Given the description of an element on the screen output the (x, y) to click on. 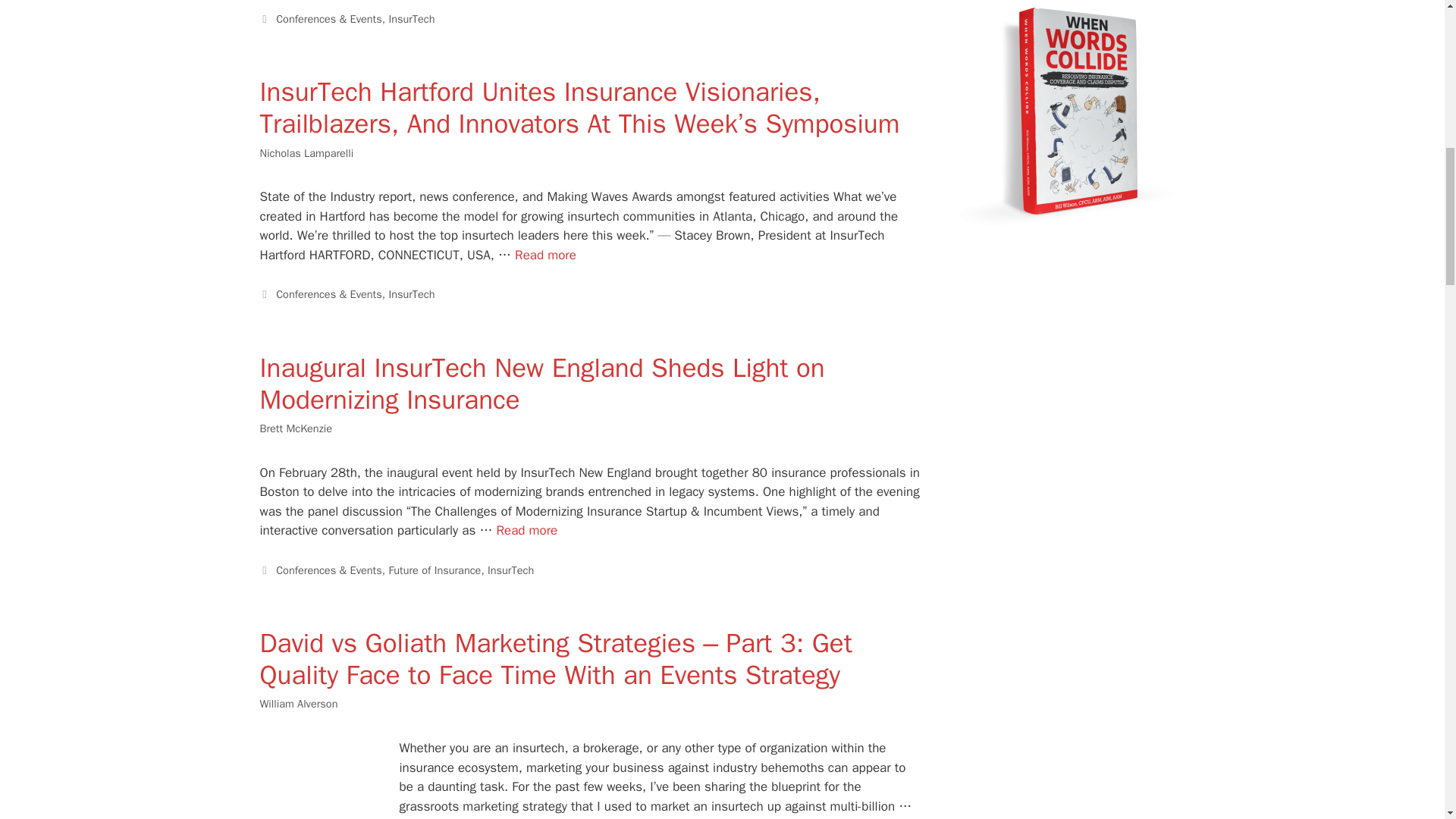
Scroll back to top (1406, 720)
William Alverson (298, 703)
Nicholas Lamparelli (306, 152)
Brett McKenzie (295, 427)
